Given the description of an element on the screen output the (x, y) to click on. 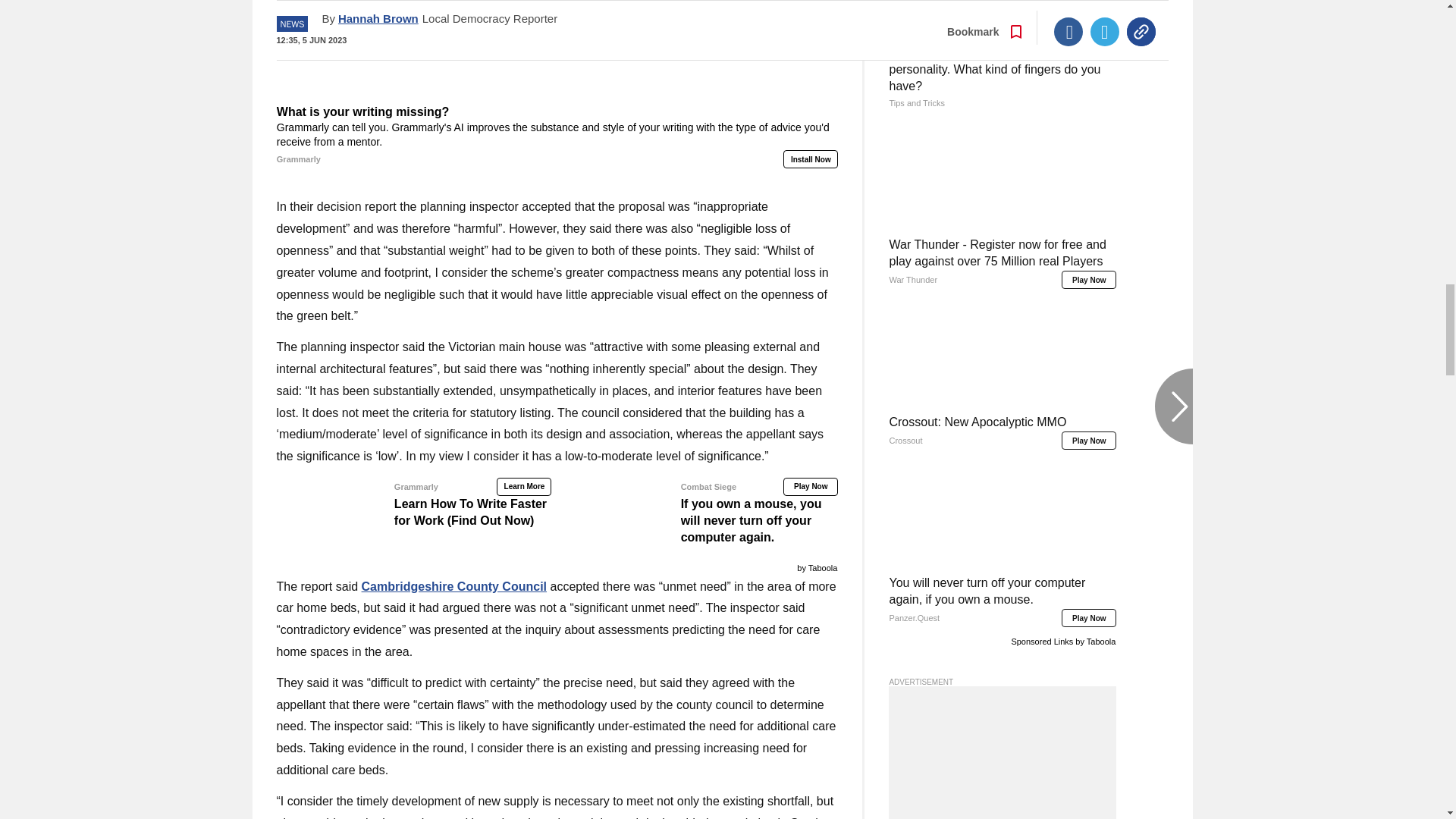
What is your writing missing? (557, 136)
